Given the description of an element on the screen output the (x, y) to click on. 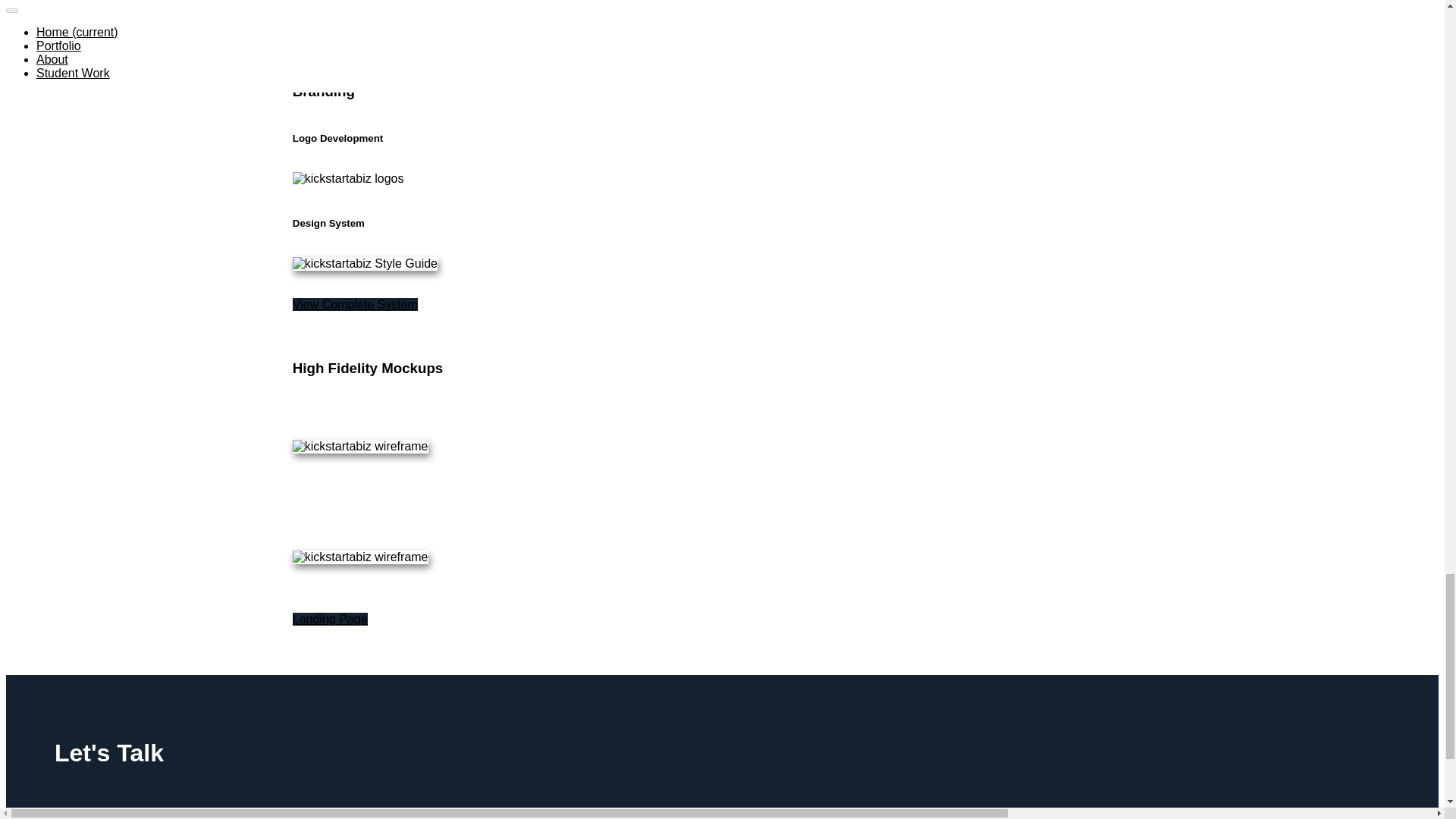
View Complete System (354, 304)
Landing Page (330, 618)
